Given the description of an element on the screen output the (x, y) to click on. 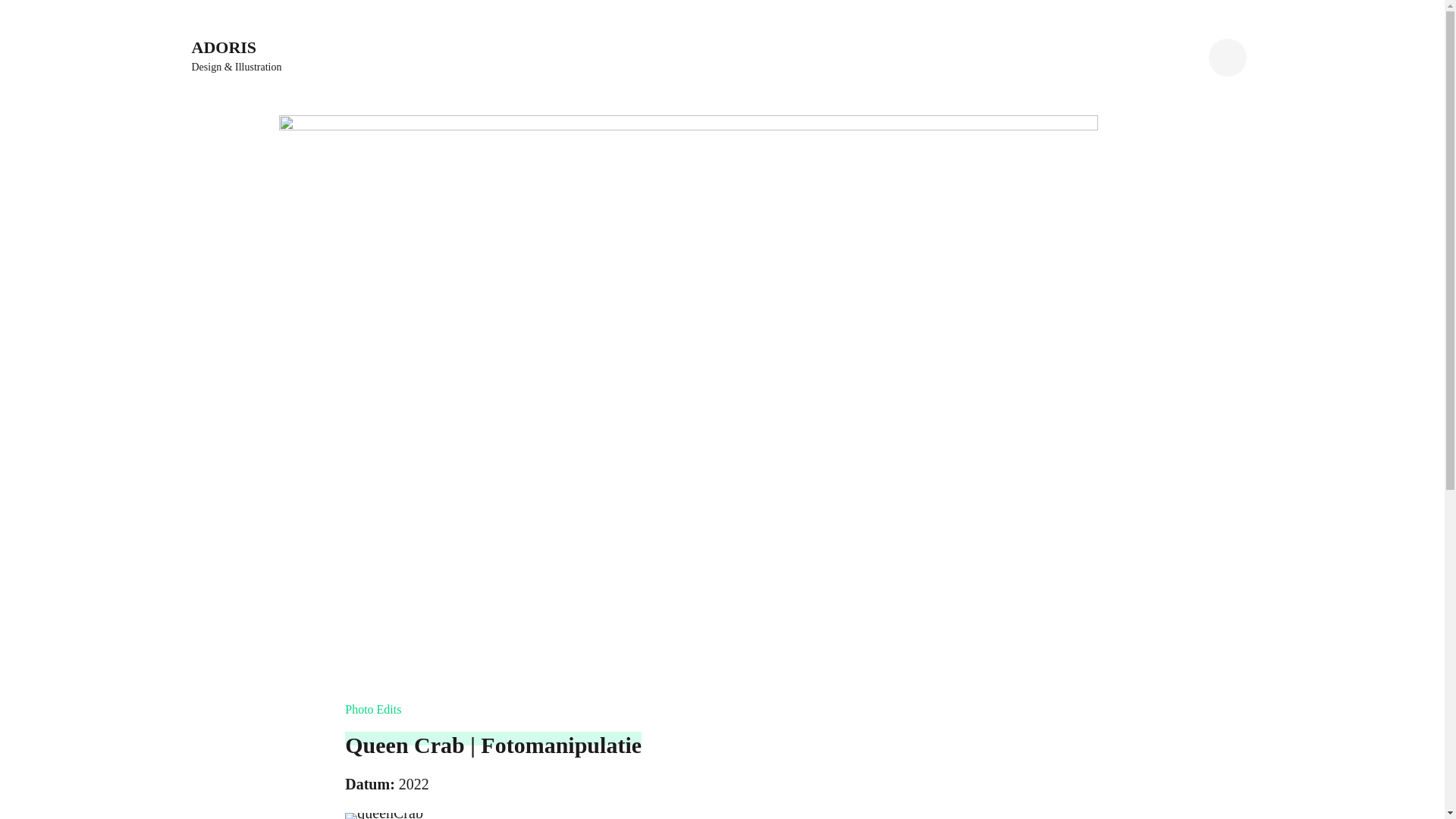
Photo Edits Element type: text (382, 708)
ADORIS Element type: text (223, 46)
